Given the description of an element on the screen output the (x, y) to click on. 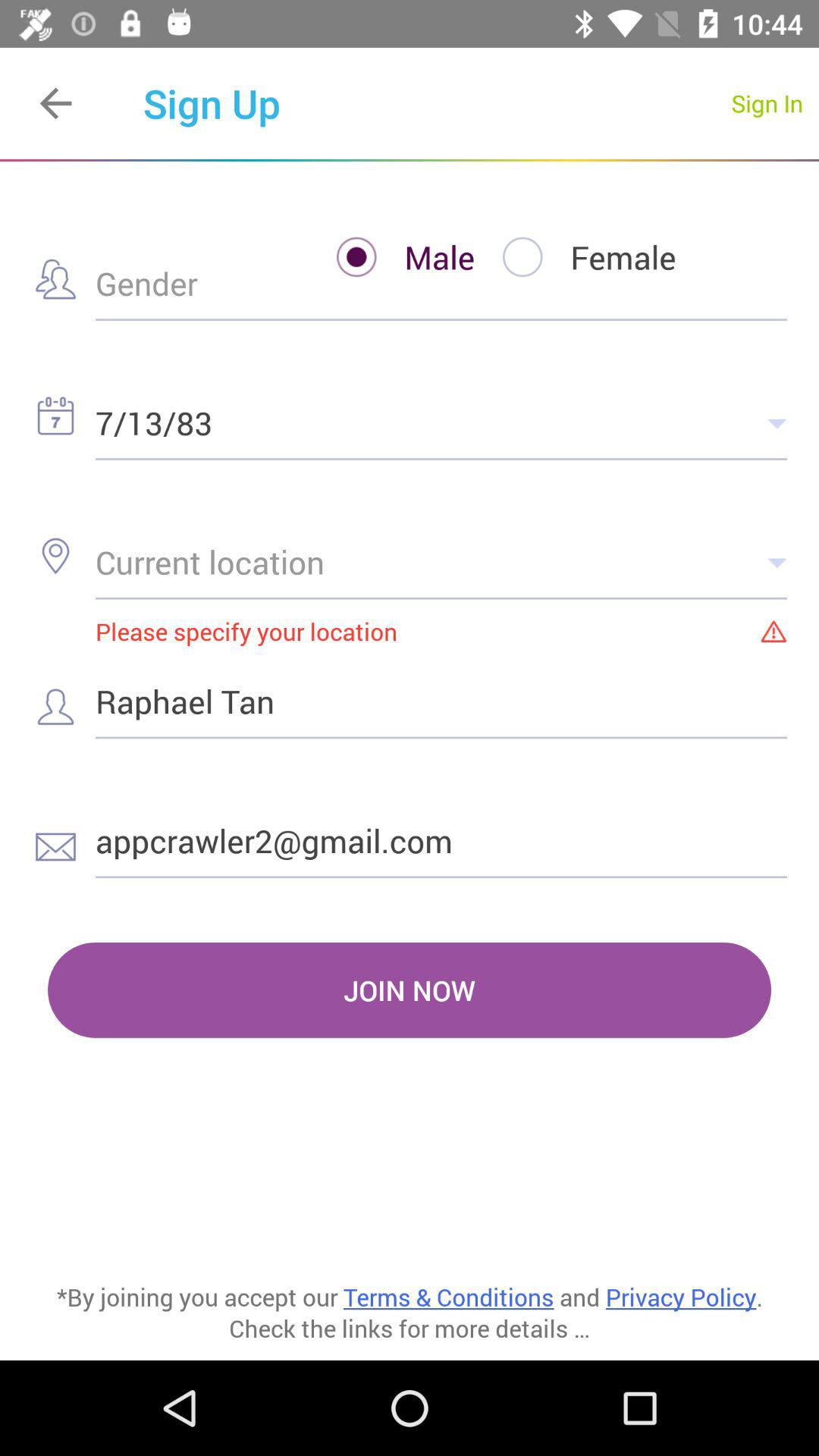
flip until join now (409, 989)
